Given the description of an element on the screen output the (x, y) to click on. 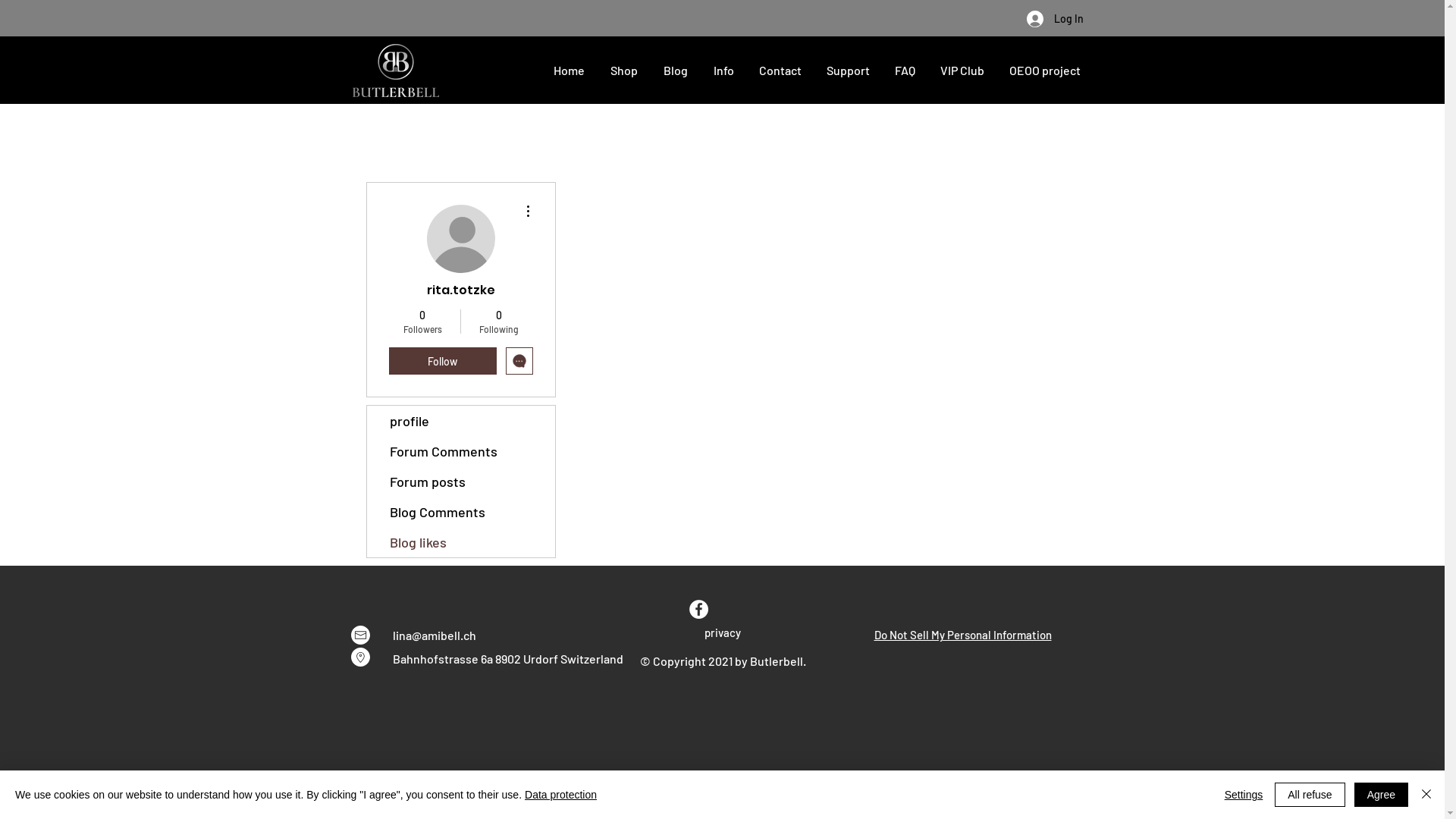
Info Element type: text (723, 70)
profile Element type: text (461, 420)
Forum Comments Element type: text (461, 451)
privacy Element type: text (722, 632)
Forum posts Element type: text (461, 481)
OEOO project Element type: text (1044, 70)
lina@amibell.ch Element type: text (434, 634)
Data protection Element type: text (560, 794)
All refuse Element type: text (1309, 794)
Shop Element type: text (623, 70)
Support Element type: text (848, 70)
Do Not Sell My Personal Information Element type: text (962, 635)
Contact Element type: text (779, 70)
0
Following Element type: text (499, 321)
Follow Element type: text (441, 360)
0
Followers Element type: text (421, 321)
Blog Comments Element type: text (461, 511)
Blog Element type: text (675, 70)
Blog likes Element type: text (461, 542)
Agree Element type: text (1381, 794)
VIP Club Element type: text (962, 70)
Log In Element type: text (1055, 18)
Home Element type: text (567, 70)
FAQ Element type: text (905, 70)
